Given the description of an element on the screen output the (x, y) to click on. 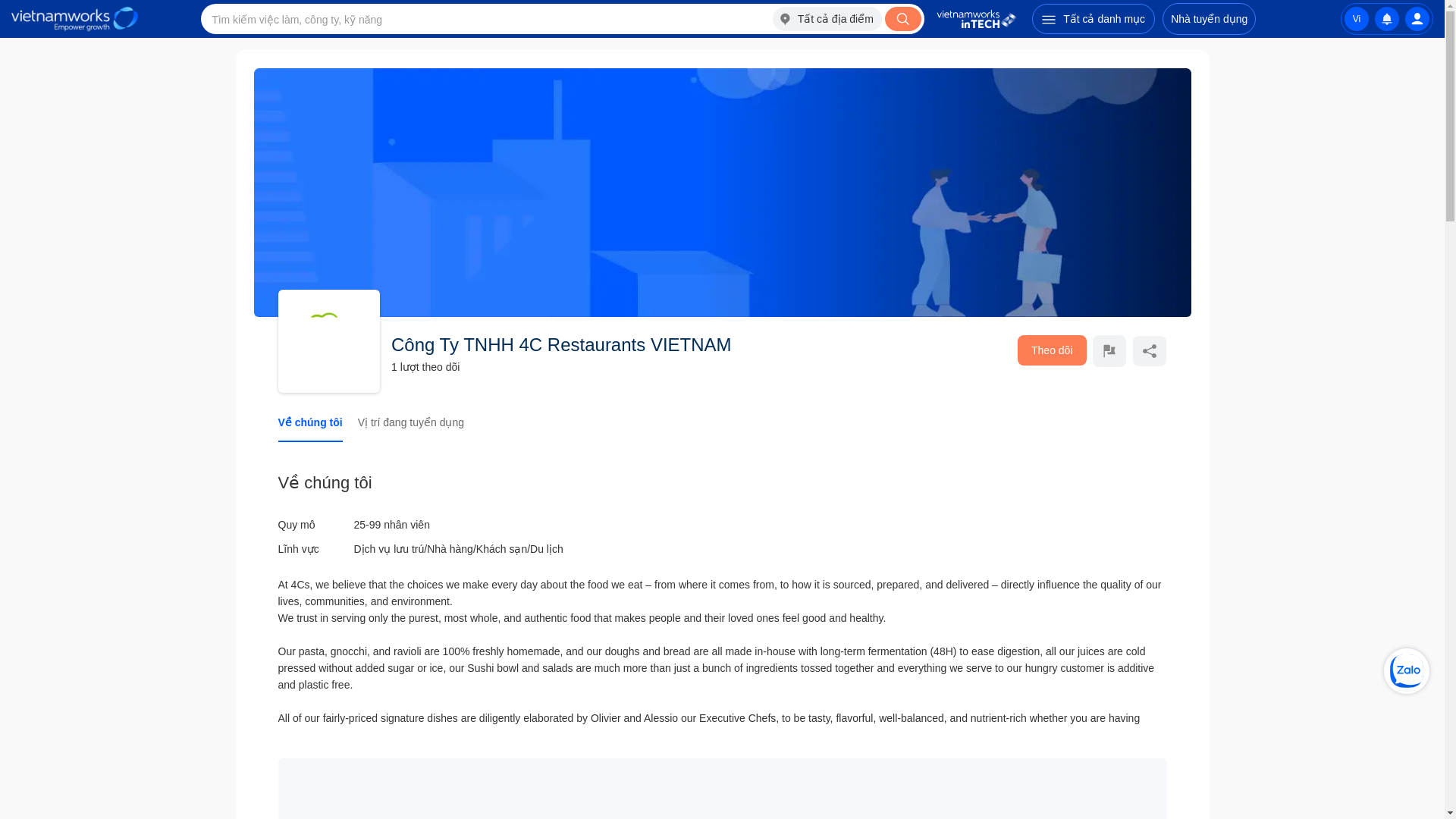
Vi (1355, 18)
